Given the description of an element on the screen output the (x, y) to click on. 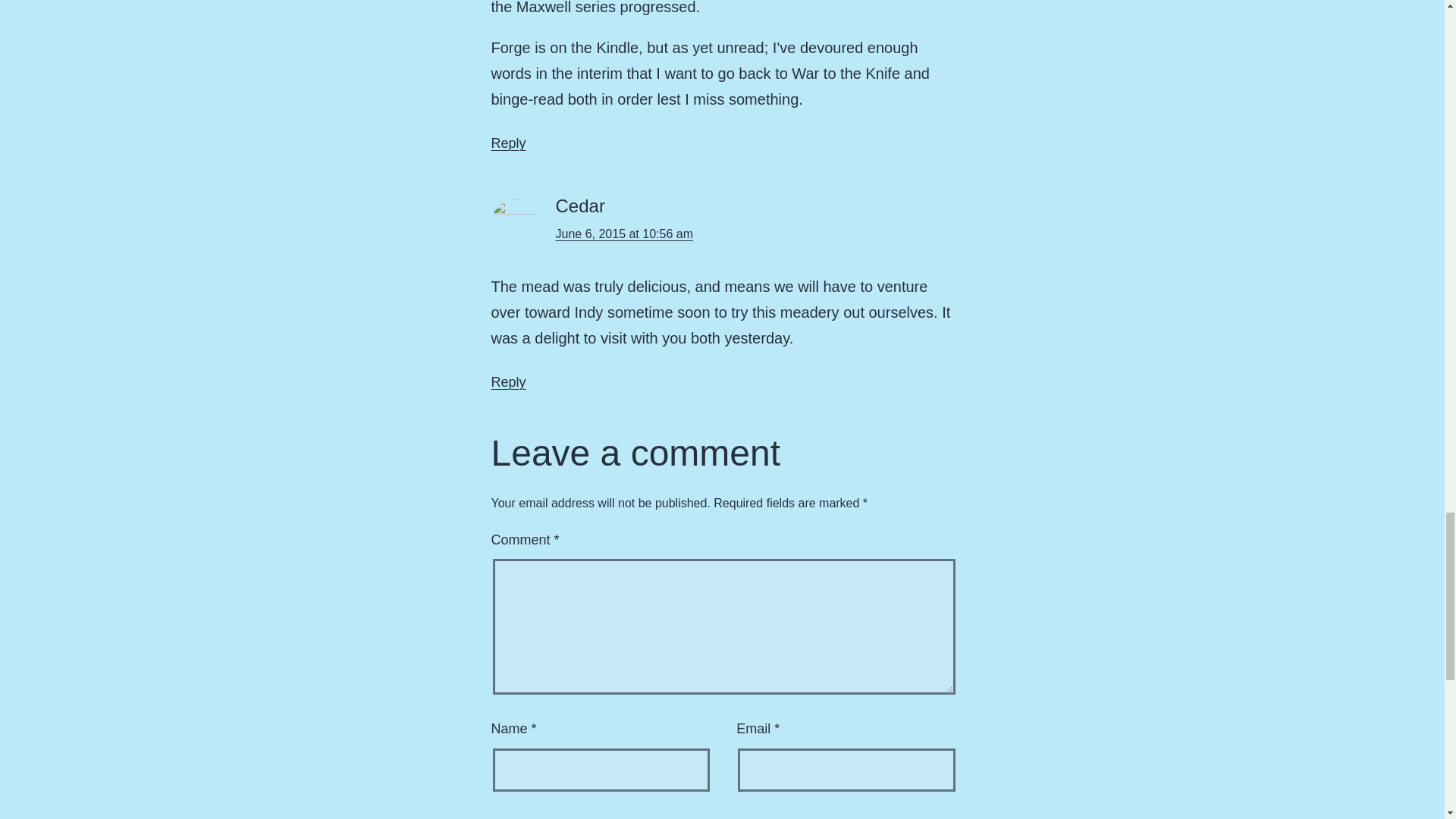
Reply (508, 381)
June 6, 2015 at 10:56 am (623, 233)
Reply (508, 142)
